Given the description of an element on the screen output the (x, y) to click on. 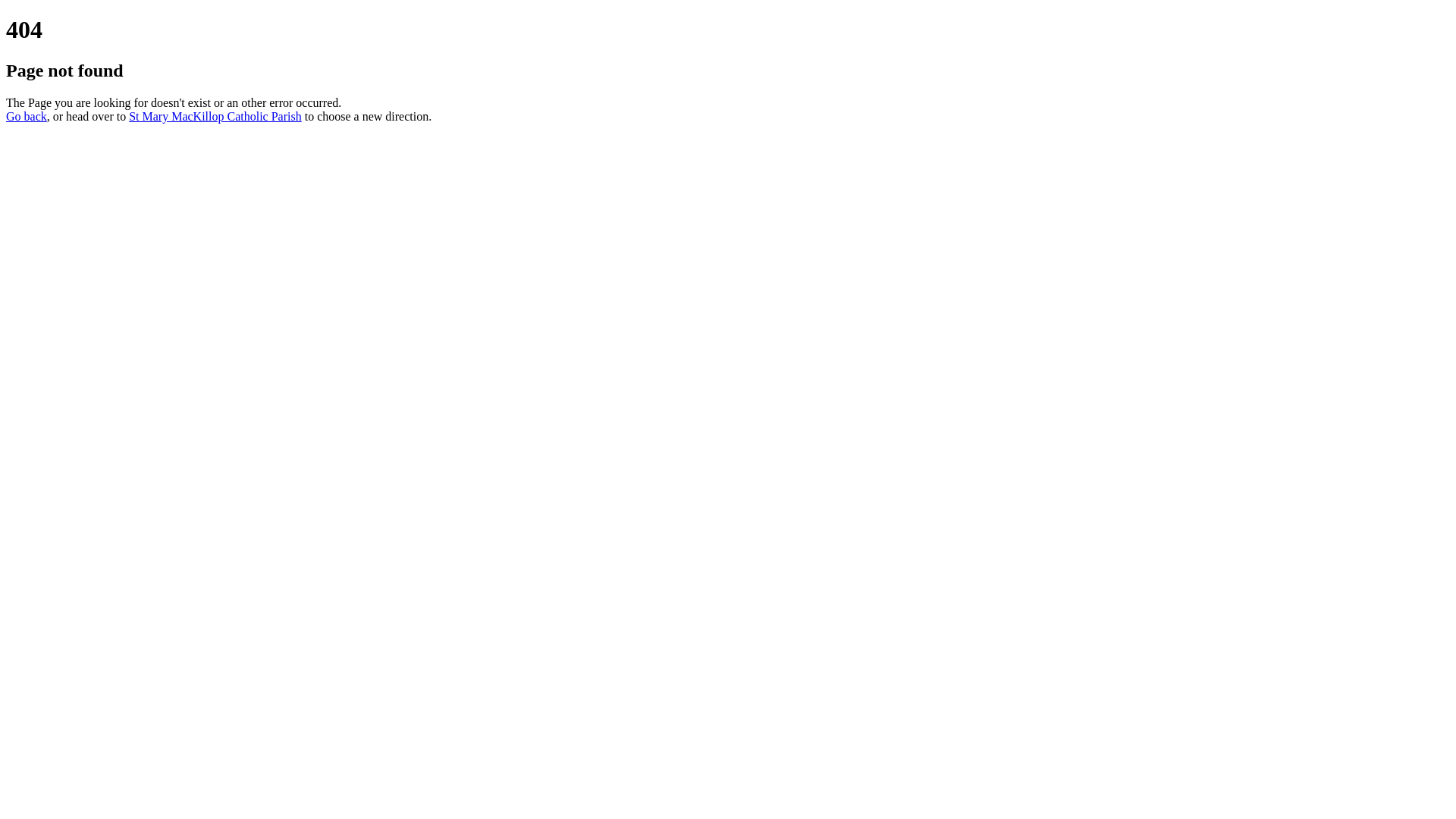
Go back Element type: text (26, 115)
St Mary MacKillop Catholic Parish Element type: text (214, 115)
